Given the description of an element on the screen output the (x, y) to click on. 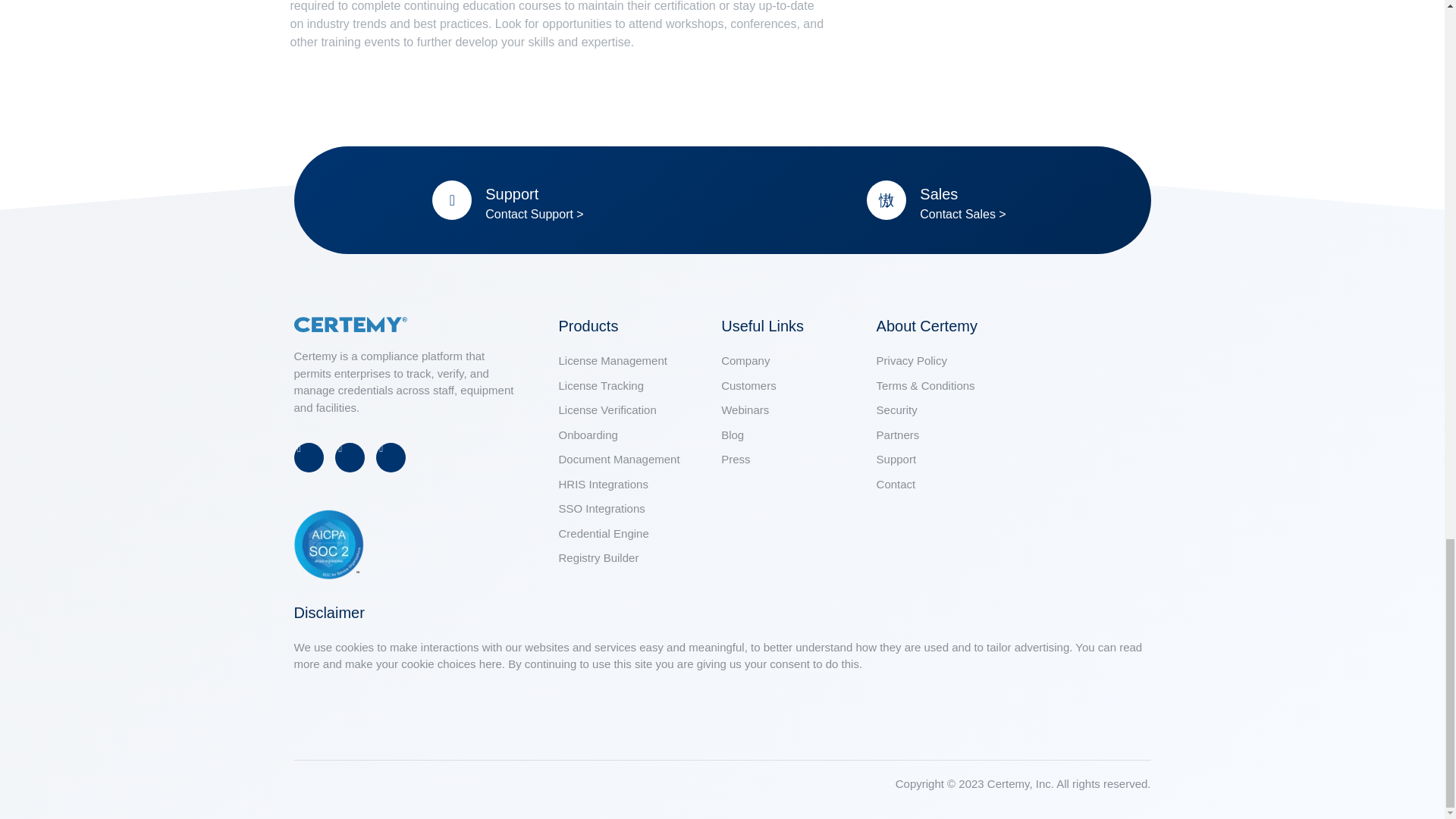
Support (511, 193)
